Given the description of an element on the screen output the (x, y) to click on. 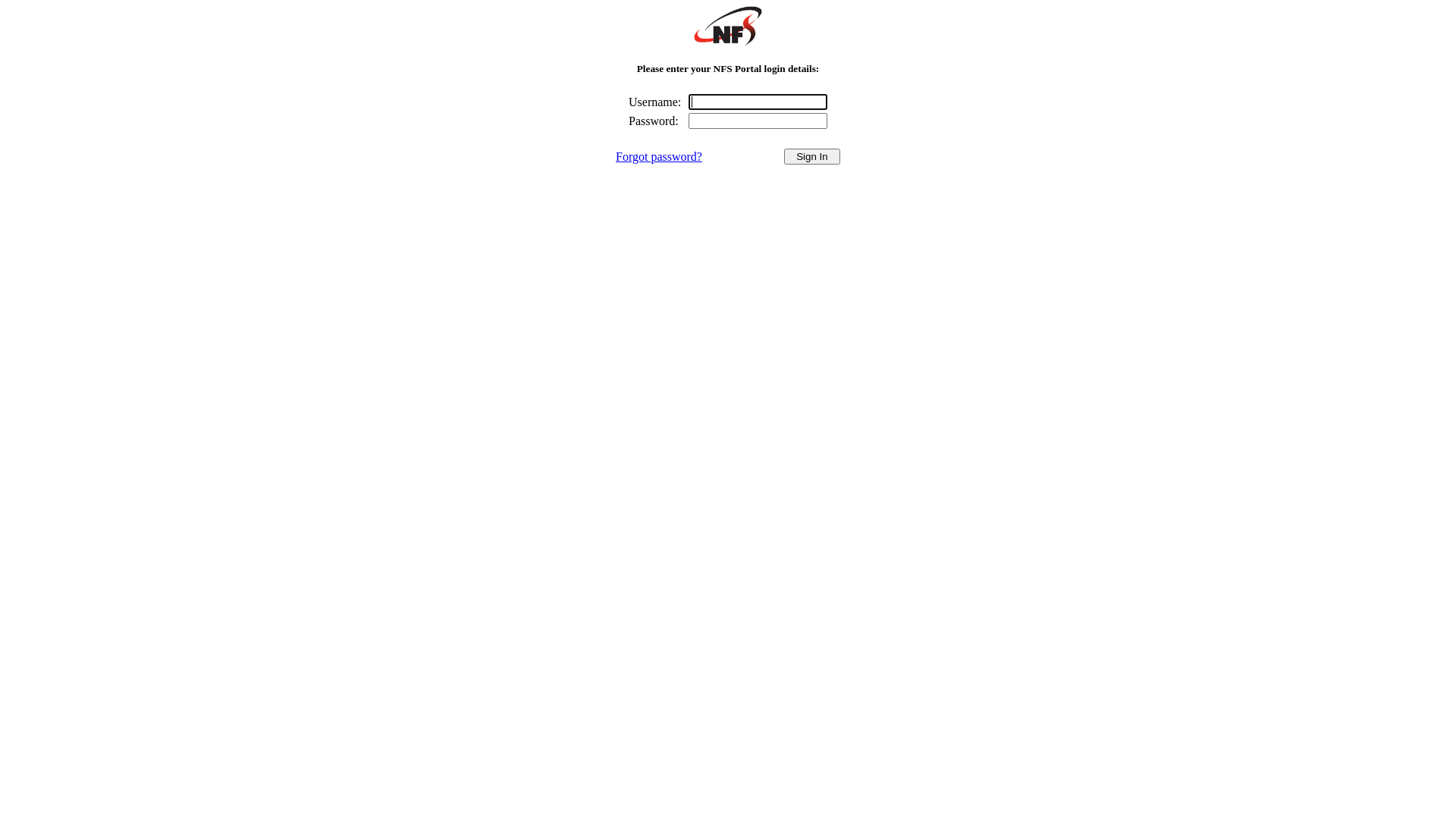
Forgot password? Element type: text (658, 156)
Sign In Element type: text (812, 156)
